Given the description of an element on the screen output the (x, y) to click on. 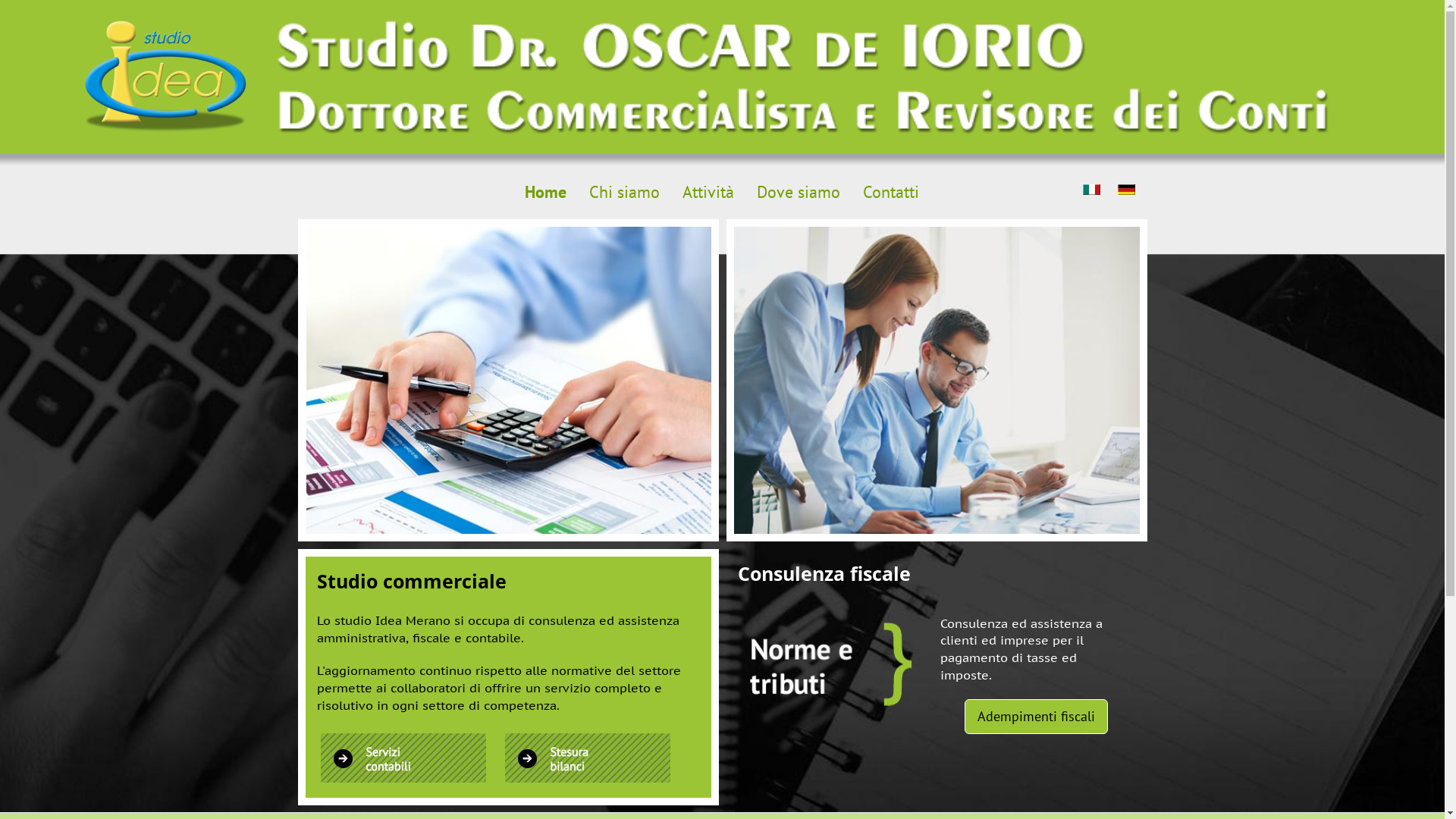
Dove siamo Element type: text (798, 192)
Home Element type: text (545, 192)
Contatti Element type: text (890, 192)
Chi siamo Element type: text (624, 192)
Adempimenti fiscali Element type: text (1035, 716)
